Given the description of an element on the screen output the (x, y) to click on. 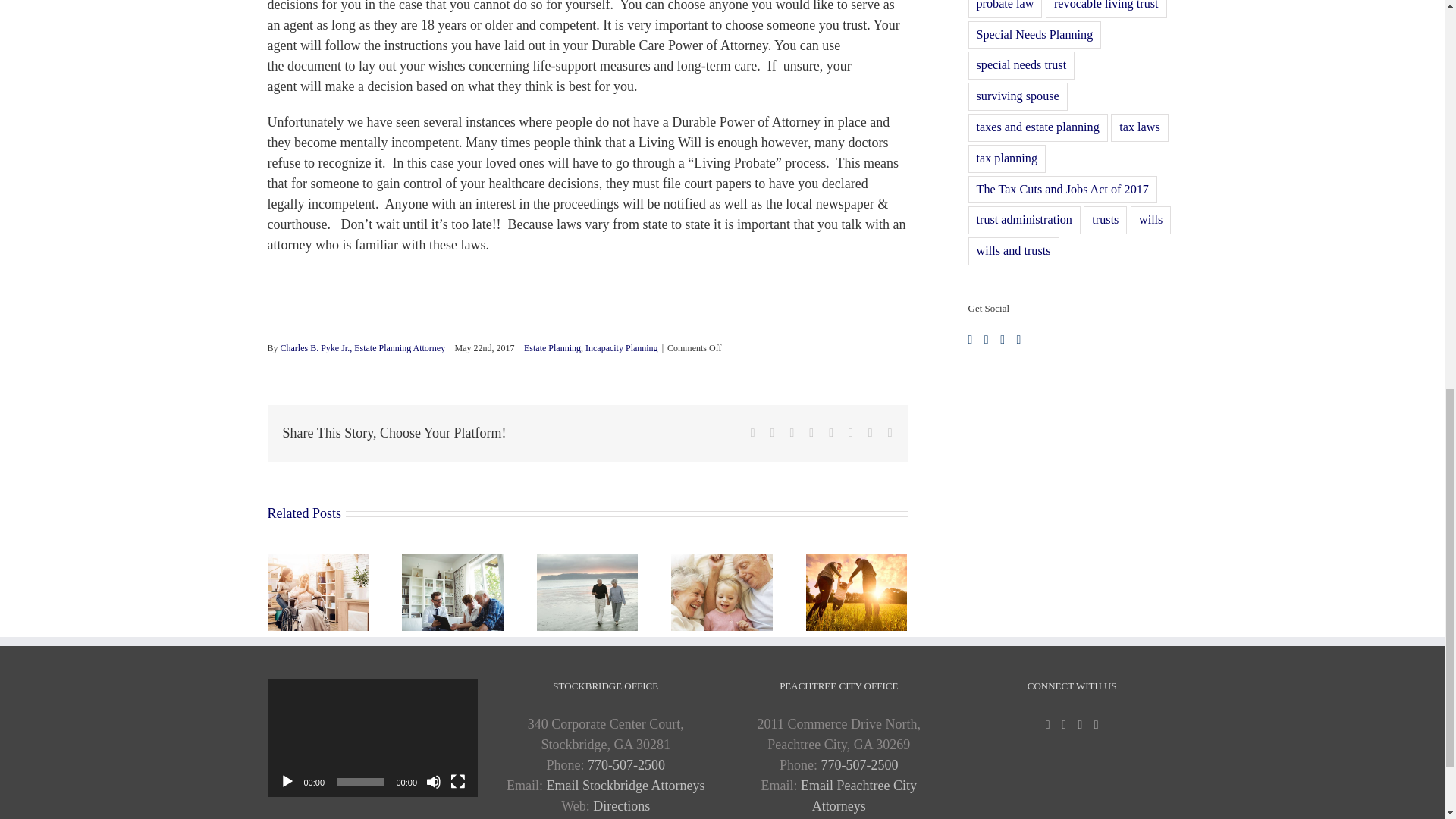
Posts by Charles B. Pyke Jr., Estate Planning Attorney (363, 347)
Mute (433, 781)
Fullscreen (457, 781)
Play (286, 781)
